Given the description of an element on the screen output the (x, y) to click on. 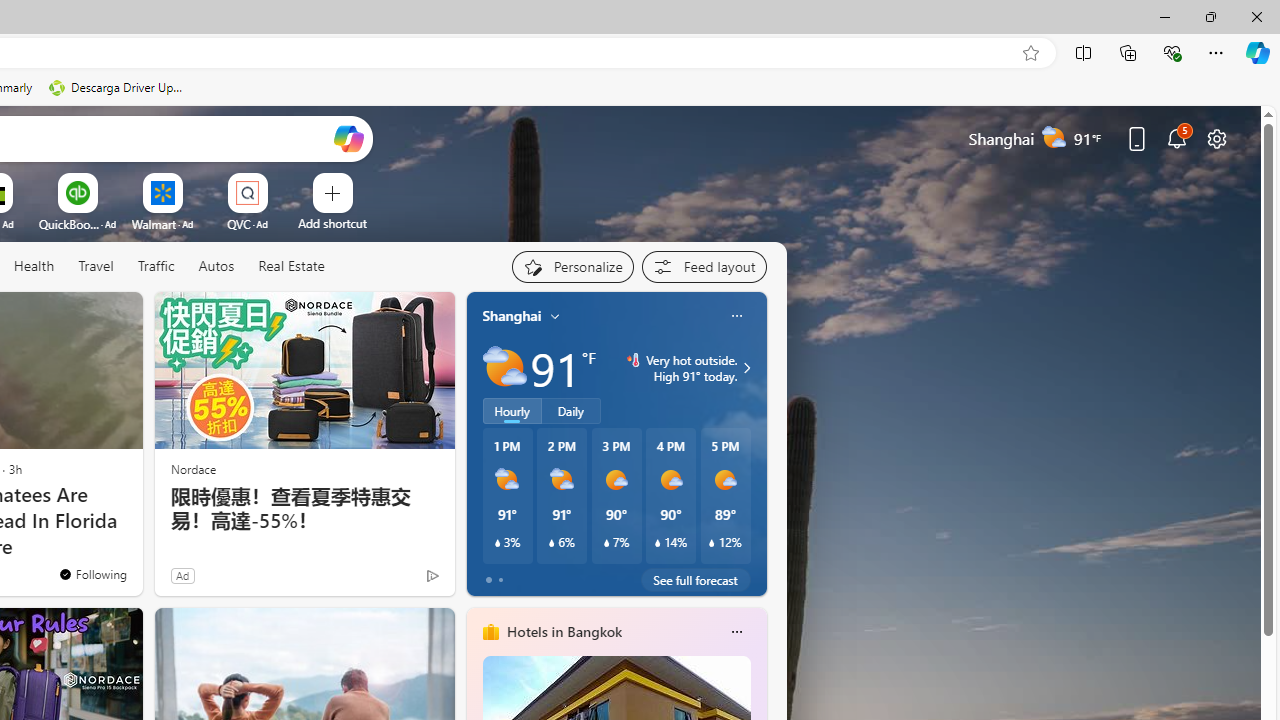
My location (555, 315)
Page settings (1216, 138)
Partly sunny (504, 368)
tab-1 (500, 579)
Health (33, 267)
Partly sunny (504, 368)
Hourly (511, 411)
Travel (95, 267)
Class: weather-current-precipitation-glyph (712, 543)
Autos (215, 265)
